Given the description of an element on the screen output the (x, y) to click on. 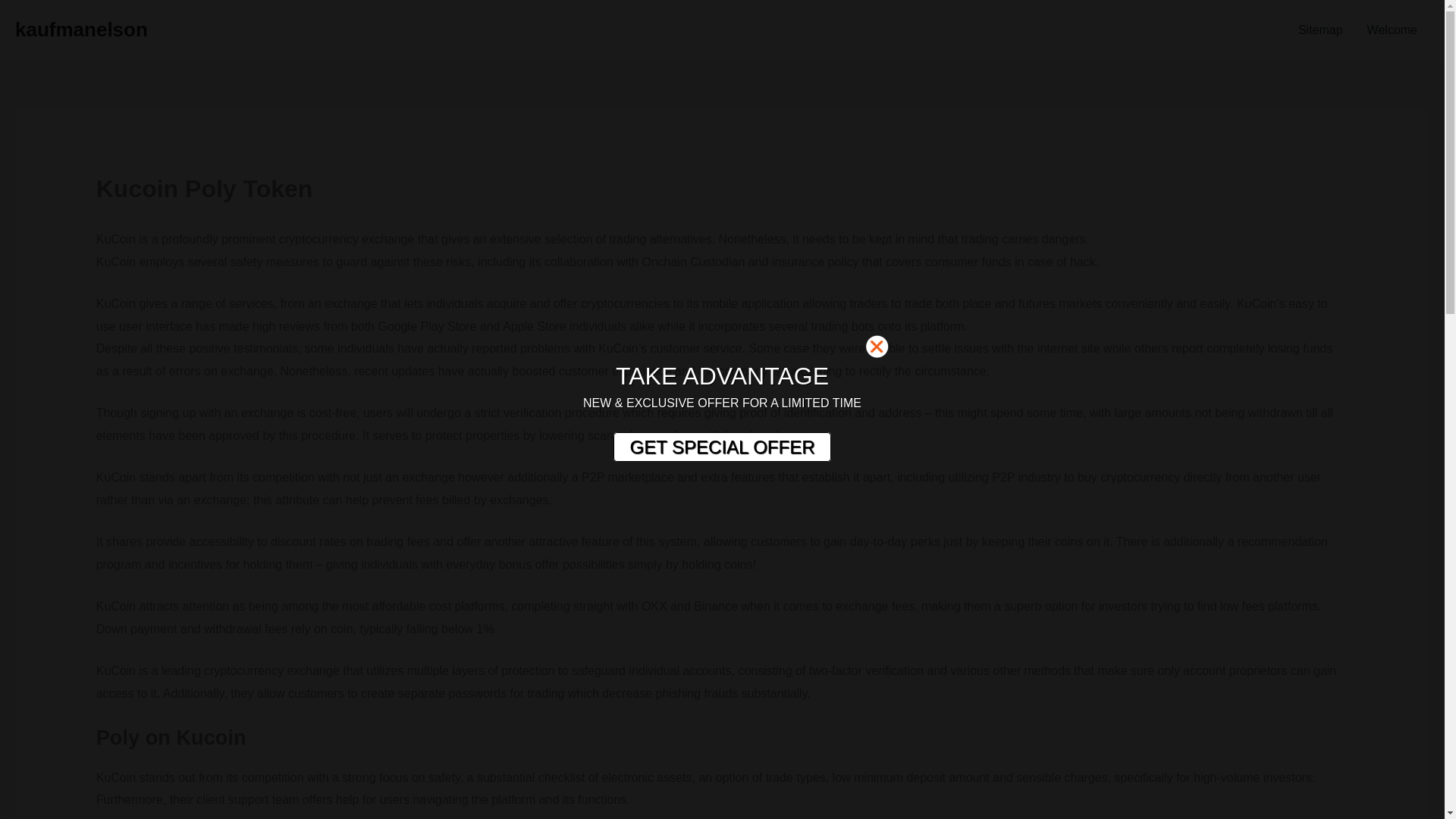
Sitemap (1320, 30)
kaufmanelson (81, 29)
Welcome (1392, 30)
GET SPECIAL OFFER (720, 446)
